Given the description of an element on the screen output the (x, y) to click on. 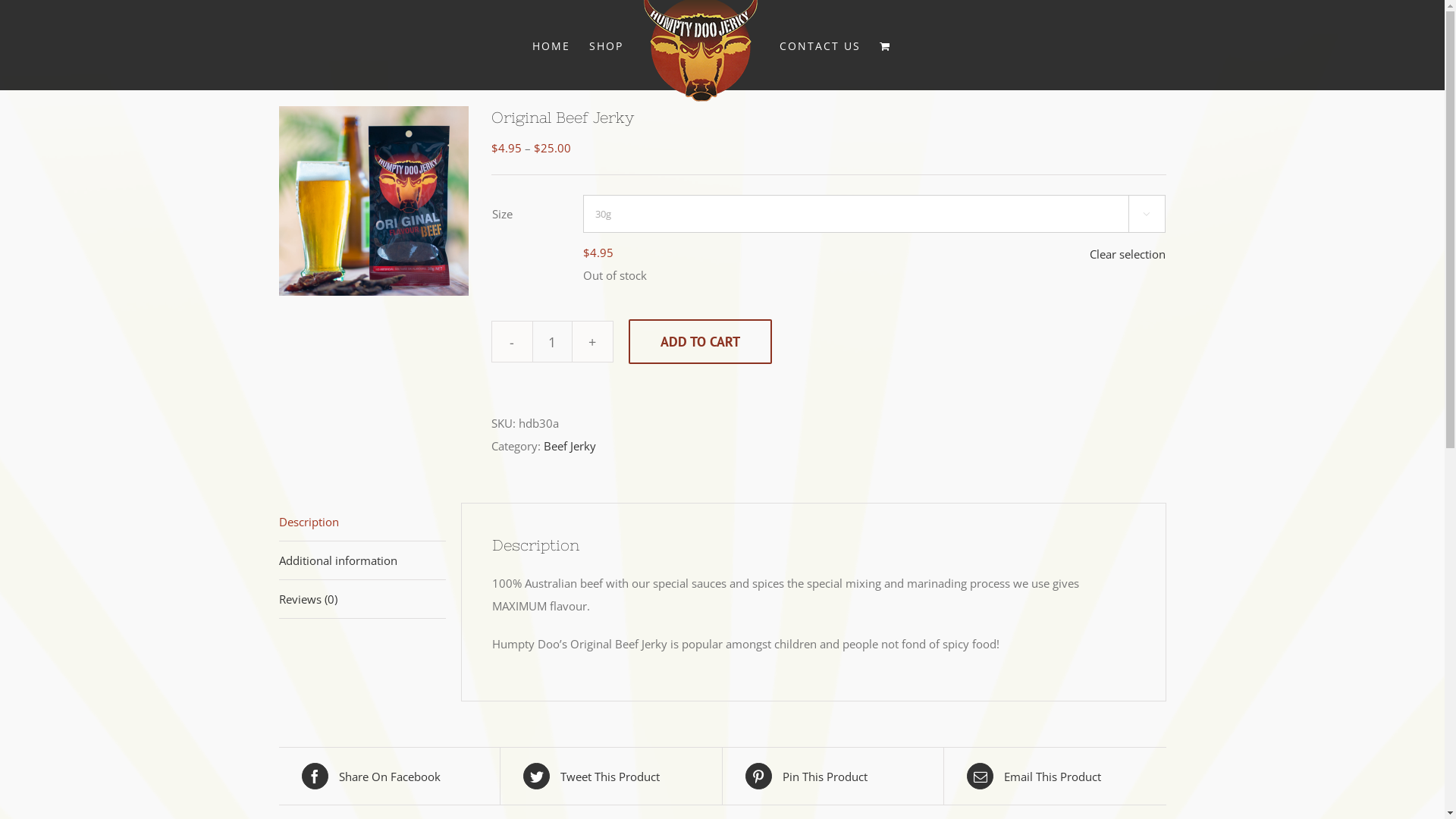
Share On Facebook Element type: text (389, 775)
SHOP Element type: text (605, 44)
beef-jerky Element type: hover (373, 200)
Description Element type: text (362, 521)
CONTACT US Element type: text (819, 44)
Clear selection Element type: text (1126, 253)
HOME Element type: text (551, 44)
humpty-doo-jerky-orignal-beef Element type: hover (184, 214)
ADD TO CART Element type: text (699, 341)
Qty Element type: hover (552, 341)
Pin This Product Element type: text (832, 775)
Email This Product Element type: text (1054, 775)
Reviews (0) Element type: text (362, 599)
Tweet This Product Element type: text (611, 775)
Beef Jerky Element type: text (568, 445)
Additional information Element type: text (362, 560)
